Given the description of an element on the screen output the (x, y) to click on. 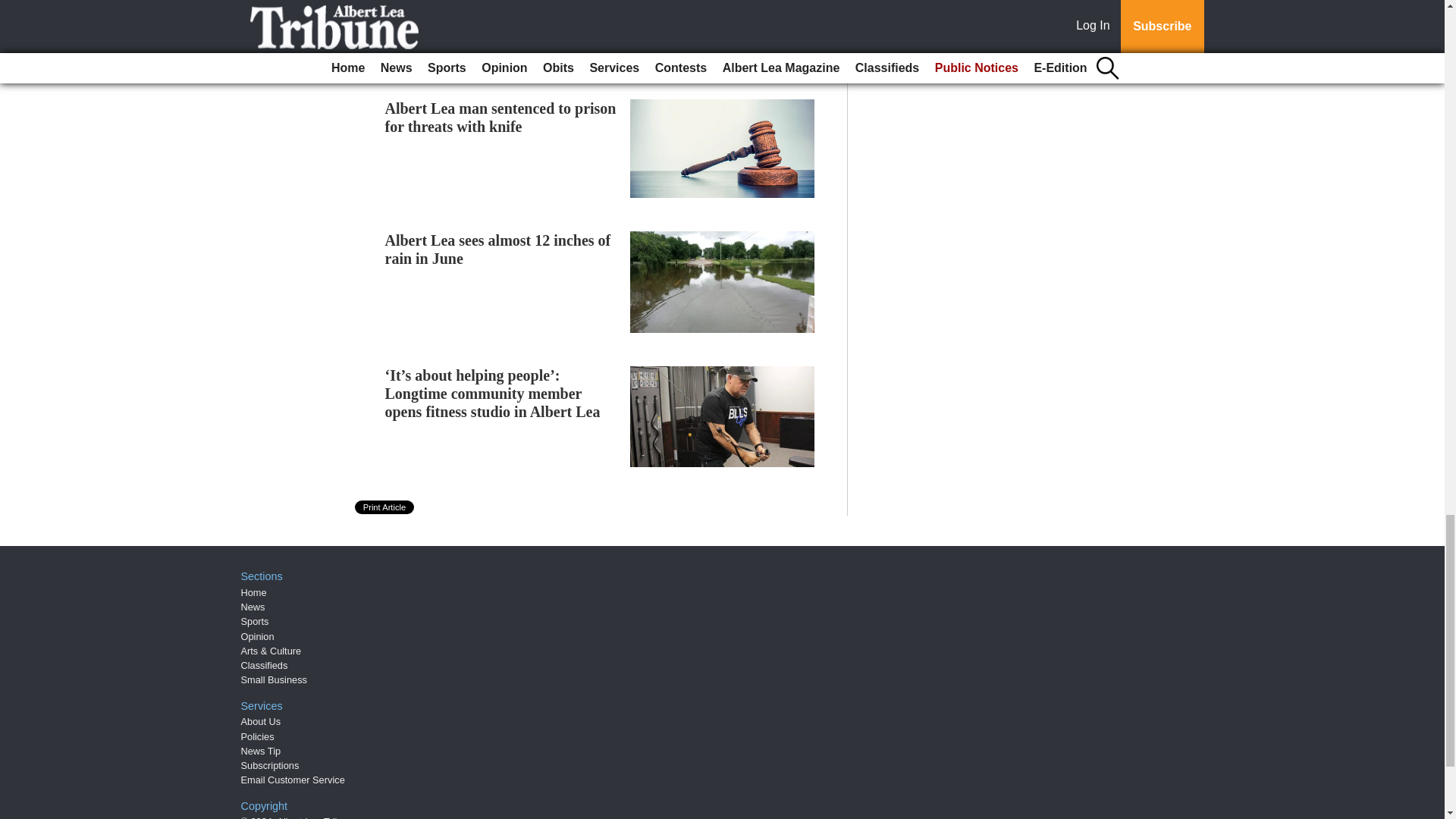
Albert Lea man sentenced to prison for threats with knife (500, 117)
Albert Lea sees almost 12 inches of rain in June (498, 248)
